Given the description of an element on the screen output the (x, y) to click on. 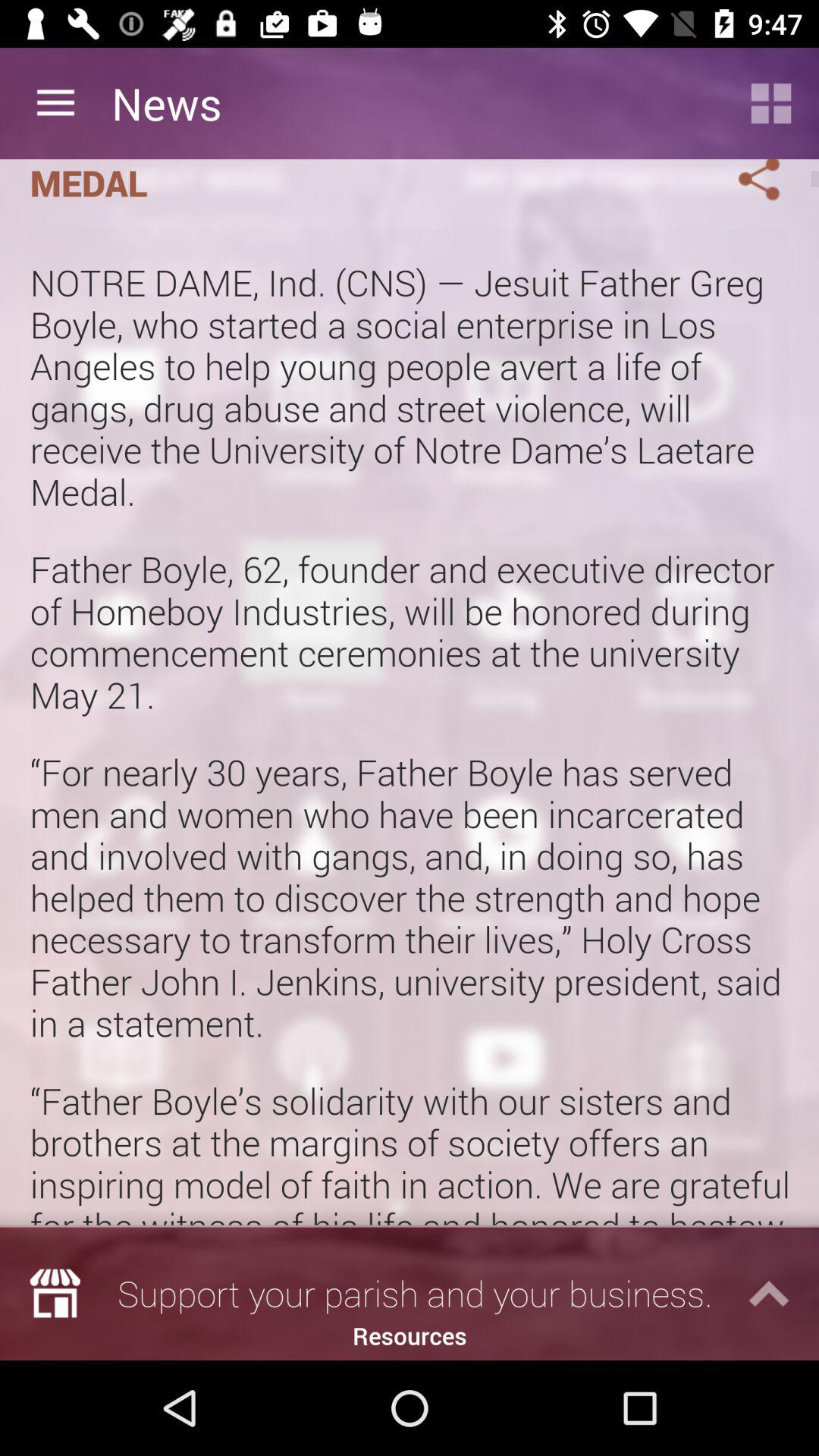
share the article (740, 183)
